Given the description of an element on the screen output the (x, y) to click on. 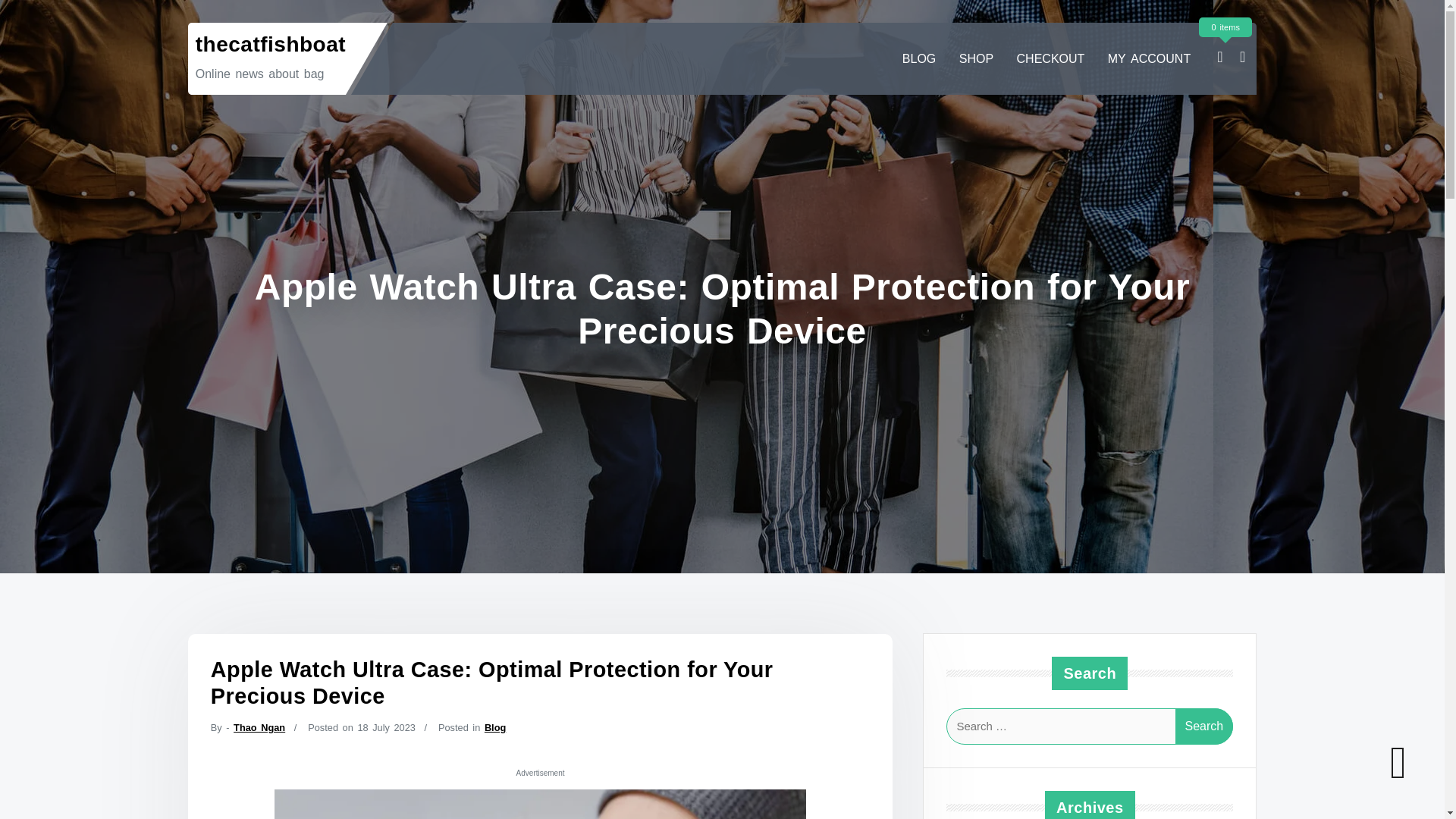
Thao Ngan (258, 727)
Search (1203, 726)
Search (1203, 726)
Blog (494, 727)
Search (1203, 726)
MY ACCOUNT (1149, 58)
thecatfishboat (270, 44)
SHOP (976, 58)
CHECKOUT (1050, 58)
BLOG (918, 58)
